Given the description of an element on the screen output the (x, y) to click on. 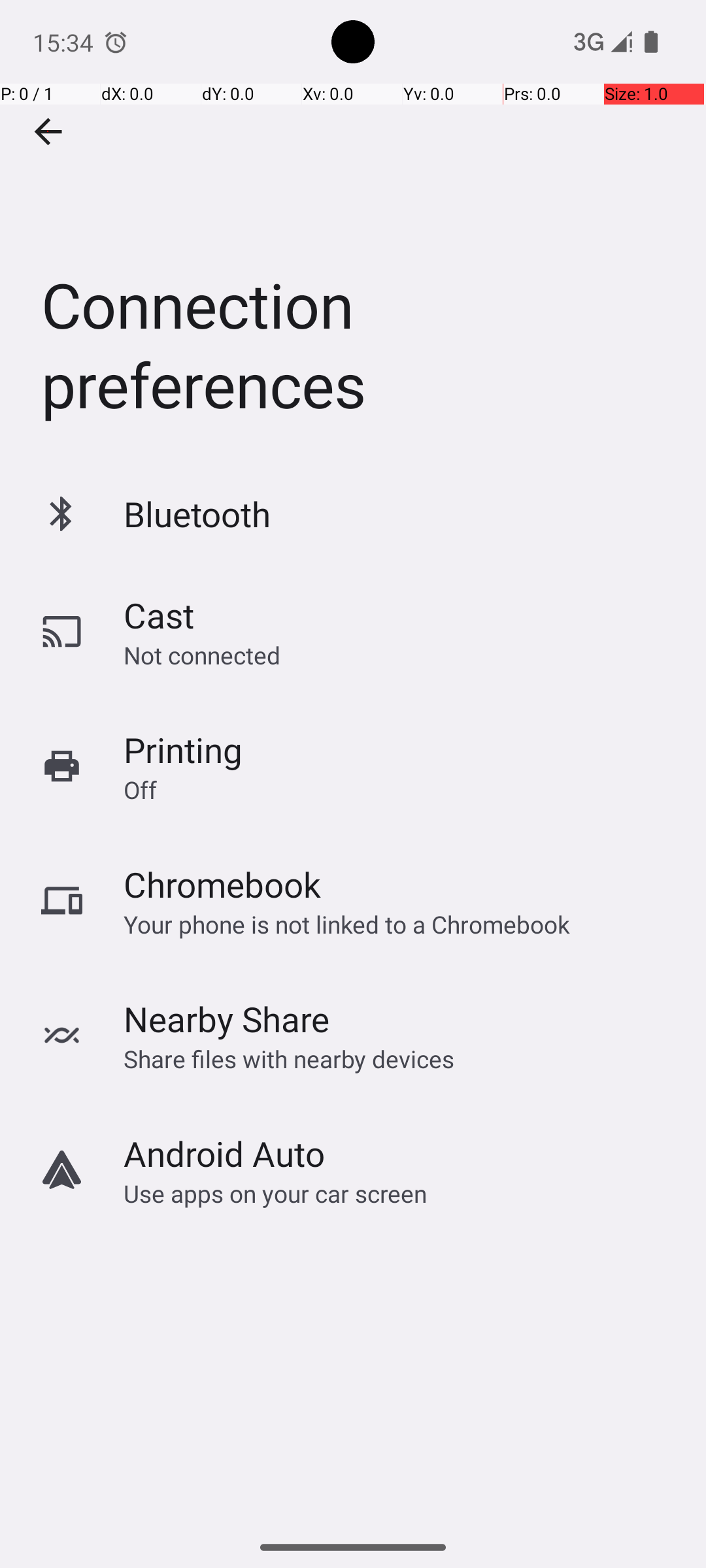
Bluetooth Element type: android.widget.TextView (197, 513)
Cast Element type: android.widget.TextView (158, 614)
Not connected Element type: android.widget.TextView (201, 654)
Printing Element type: android.widget.TextView (182, 749)
Chromebook Element type: android.widget.TextView (222, 884)
Your phone is not linked to a Chromebook Element type: android.widget.TextView (346, 923)
Nearby Share Element type: android.widget.TextView (226, 1018)
Share files with nearby devices Element type: android.widget.TextView (288, 1058)
Use apps on your car screen Element type: android.widget.TextView (275, 1192)
